Given the description of an element on the screen output the (x, y) to click on. 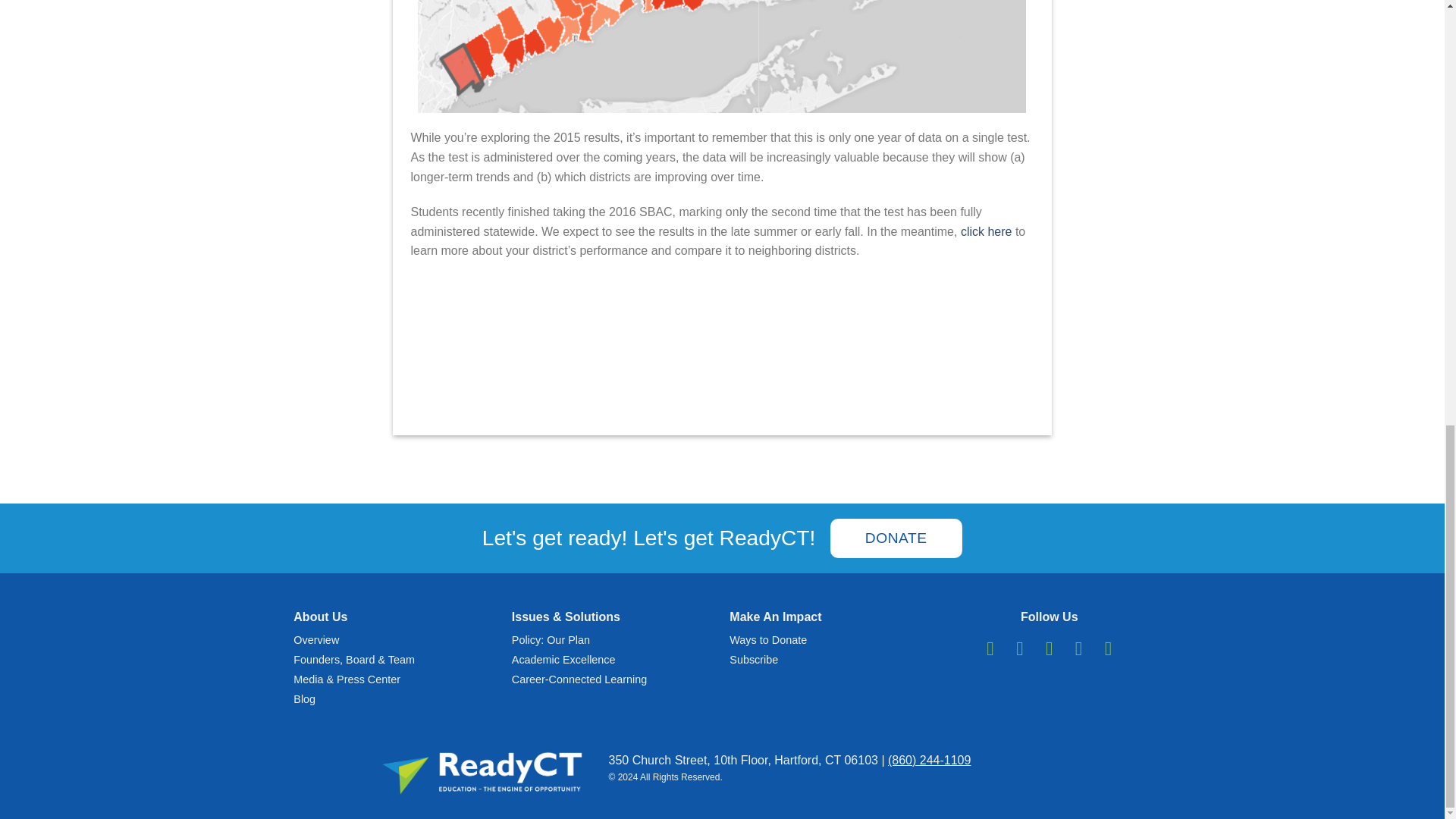
Follow on LinkedIn (1078, 648)
Follow on Instagram (1019, 648)
Follow on Twitter (1049, 648)
Follow on Facebook (989, 648)
Follow on YouTube (1107, 648)
